Given the description of an element on the screen output the (x, y) to click on. 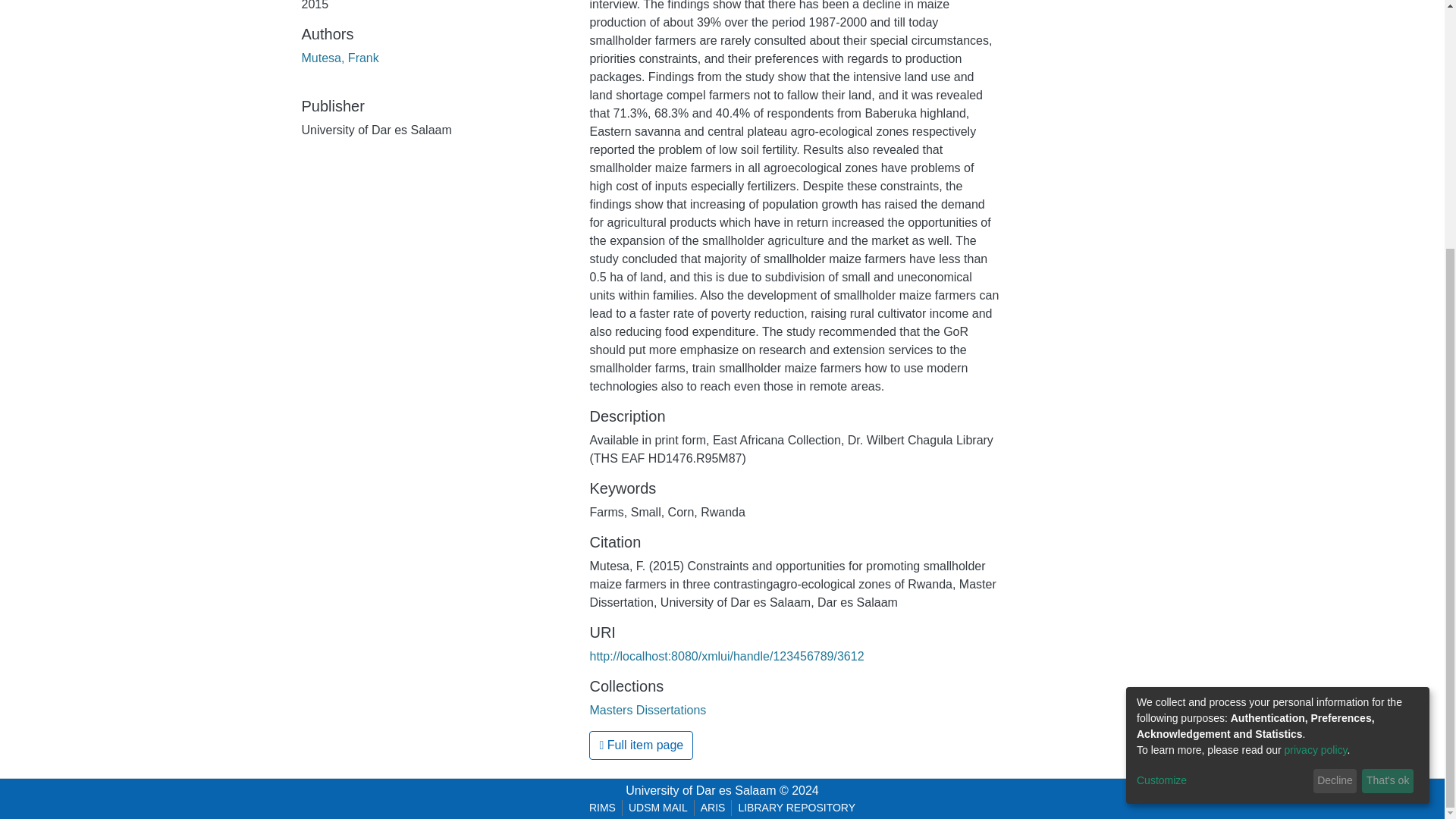
Full item page (641, 745)
LIBRARY REPOSITORY (796, 807)
That's ok (1387, 432)
privacy policy (1316, 401)
UDSM MAIL (658, 807)
Mutesa, Frank (339, 57)
Masters Dissertations (647, 709)
RIMS (602, 807)
ARIS (713, 807)
Decline (1334, 432)
Customize (1222, 432)
